Given the description of an element on the screen output the (x, y) to click on. 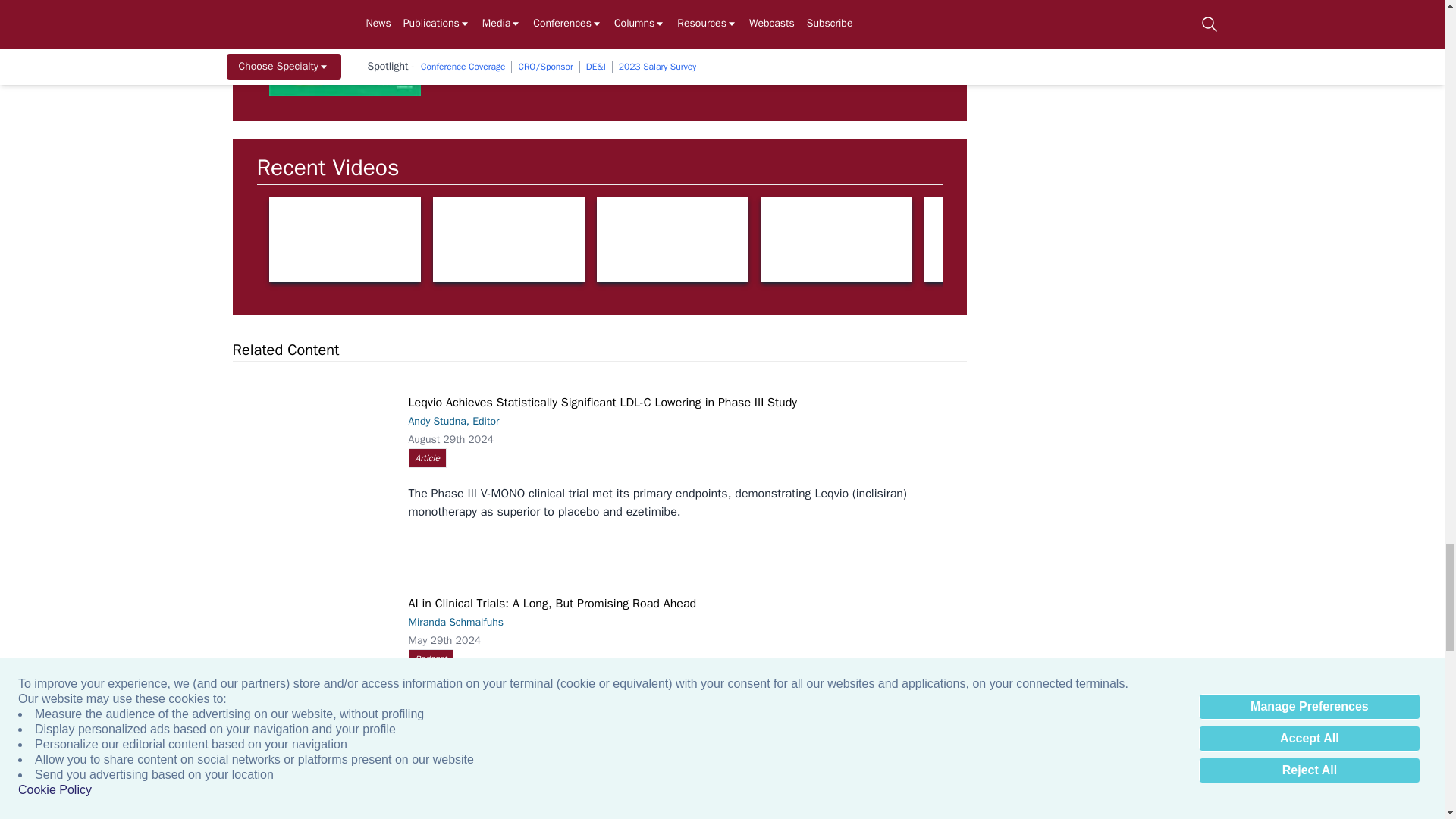
i1-424968-1408670708259.jpg (732, 2)
i4-424967-1408670710193.jpg (1108, 2)
i4-424970-1408670705828.jpg (544, 2)
